Given the description of an element on the screen output the (x, y) to click on. 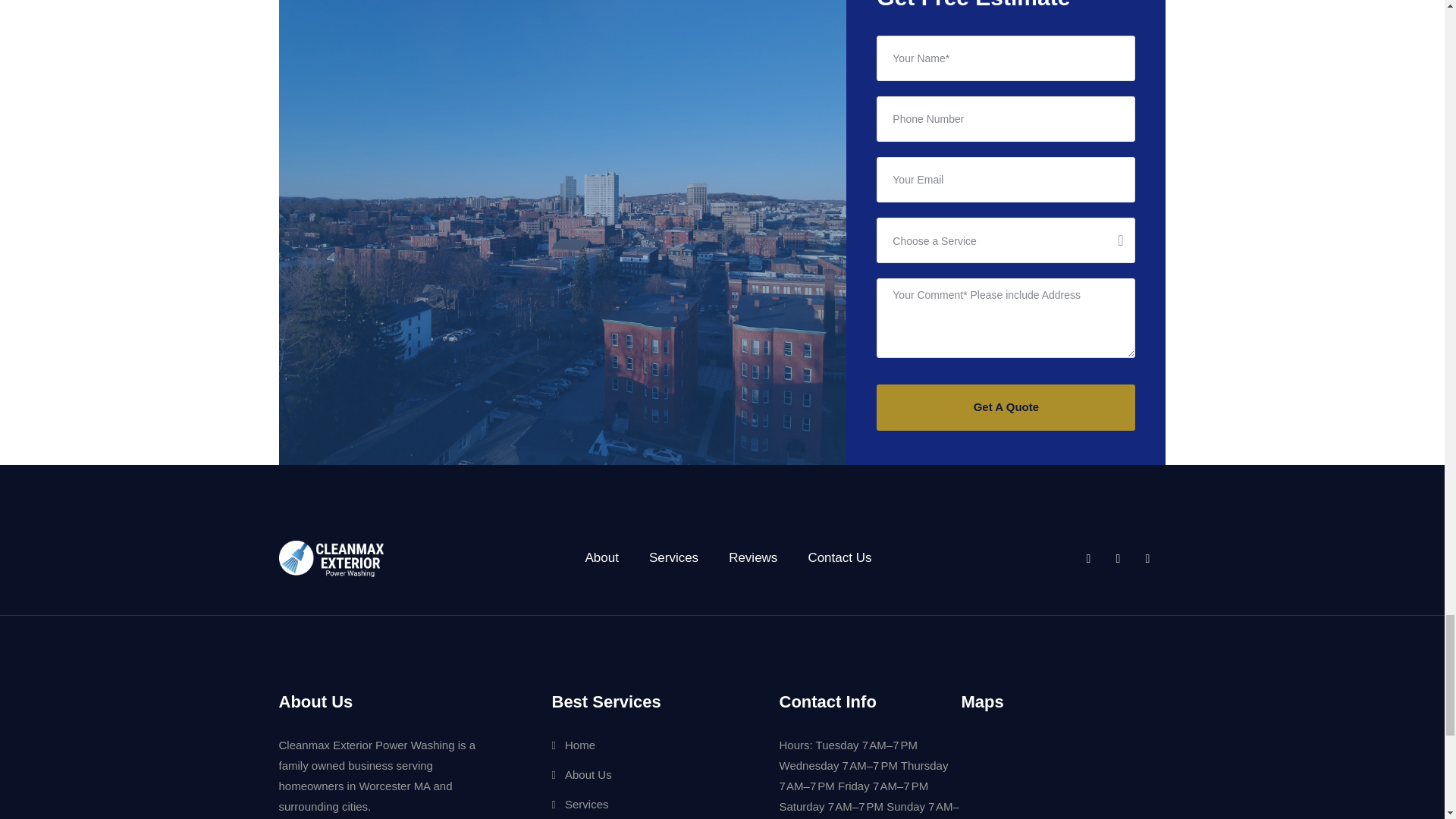
Contact Us (839, 557)
Services (673, 557)
About (601, 557)
Reviews (753, 557)
Get A Quote (1005, 407)
